Given the description of an element on the screen output the (x, y) to click on. 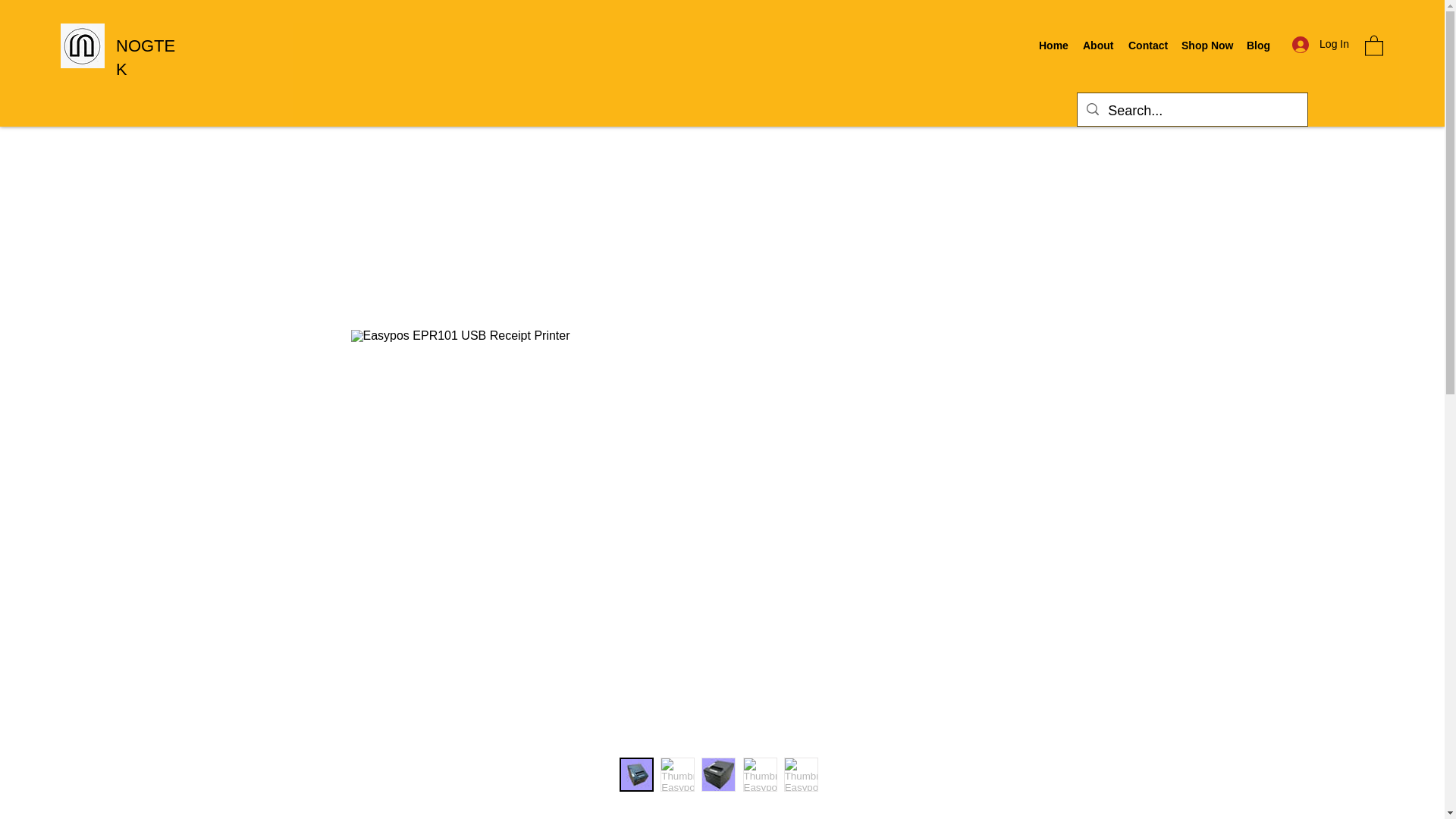
Blog (1257, 45)
Log In (1320, 44)
About (1098, 45)
Home (1052, 45)
Contact (1147, 45)
Shop Now (1206, 45)
